Given the description of an element on the screen output the (x, y) to click on. 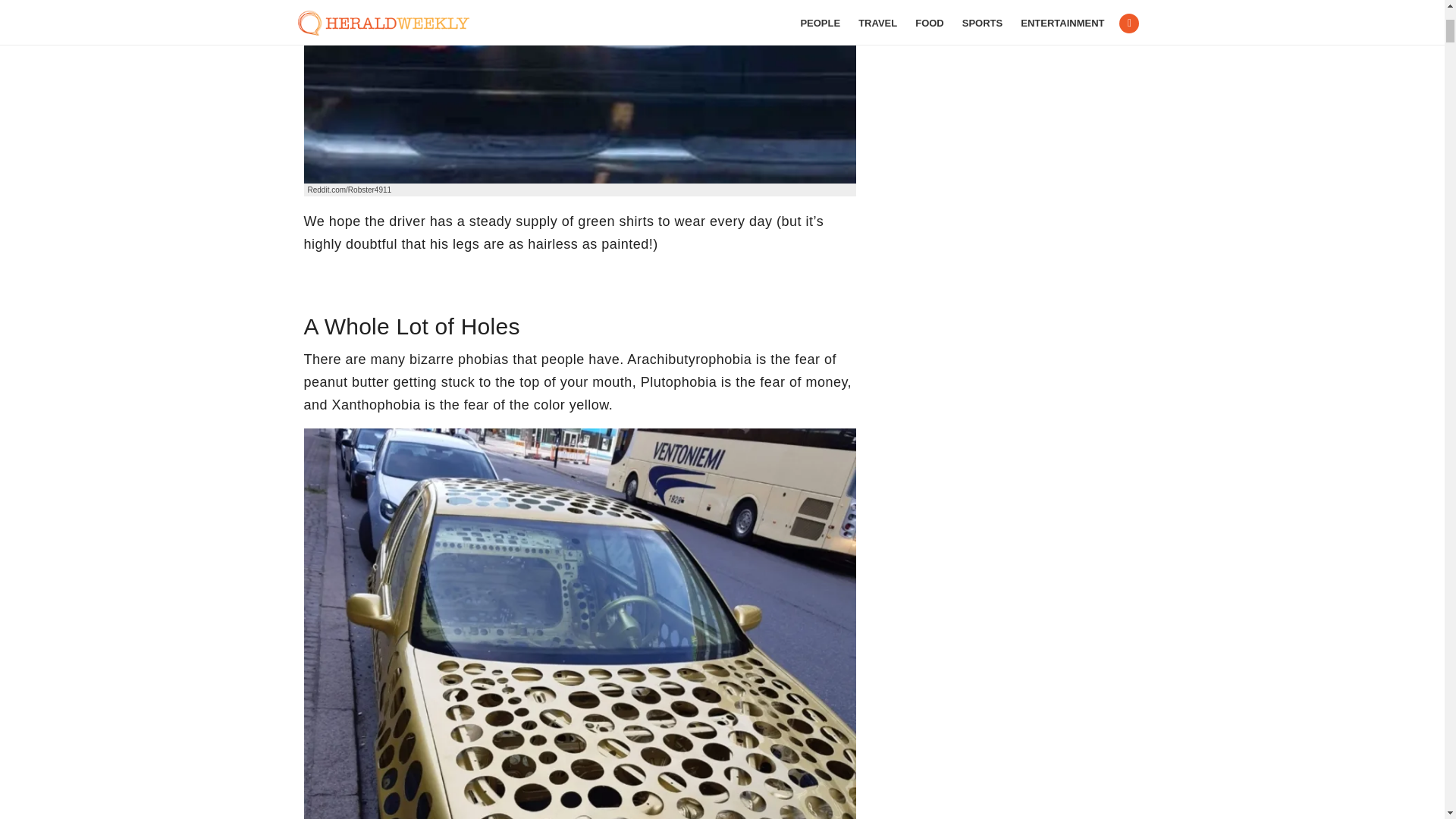
Butt Wait! (579, 91)
